Given the description of an element on the screen output the (x, y) to click on. 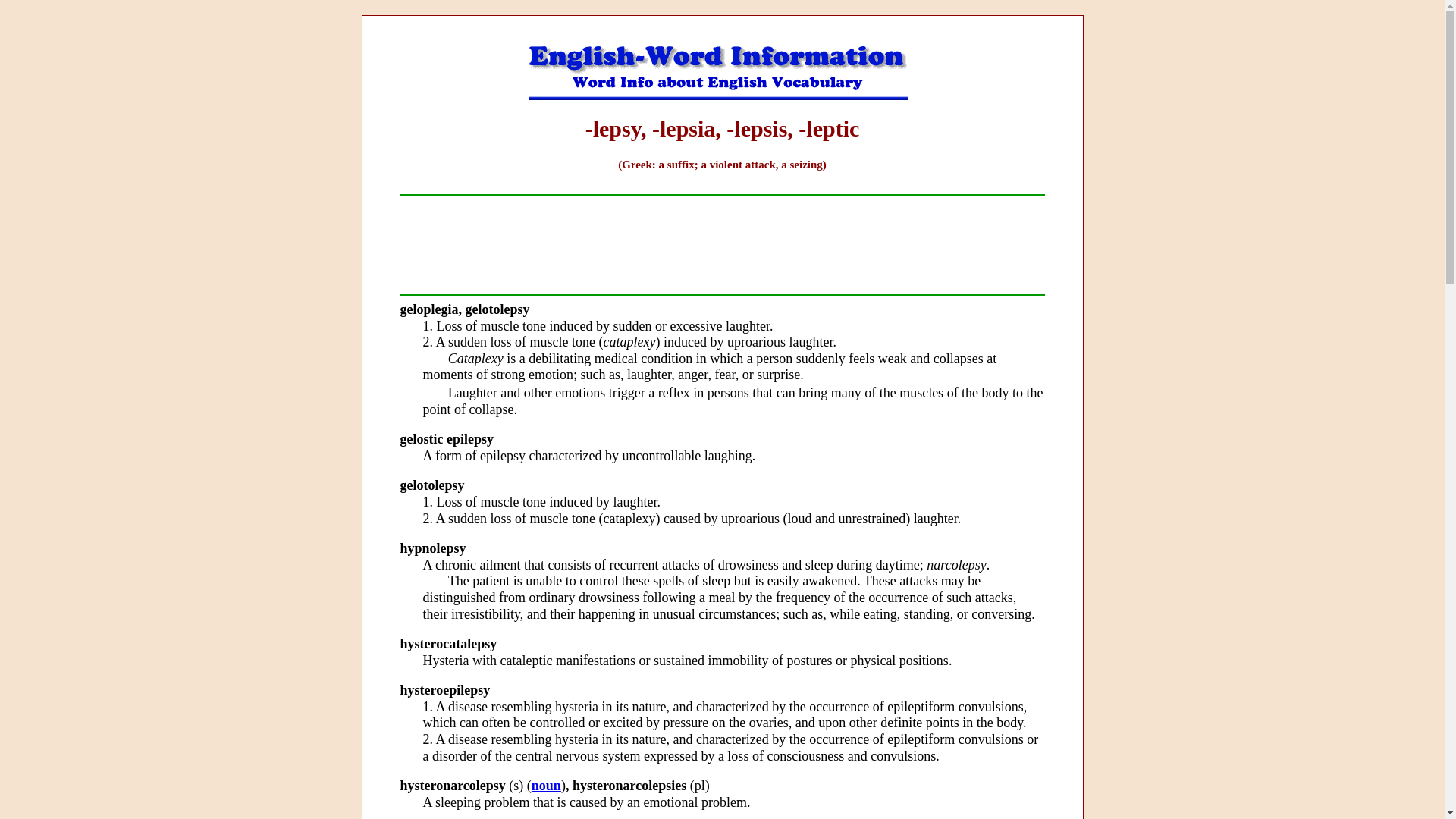
noun (545, 785)
Advertisement (721, 244)
